Given the description of an element on the screen output the (x, y) to click on. 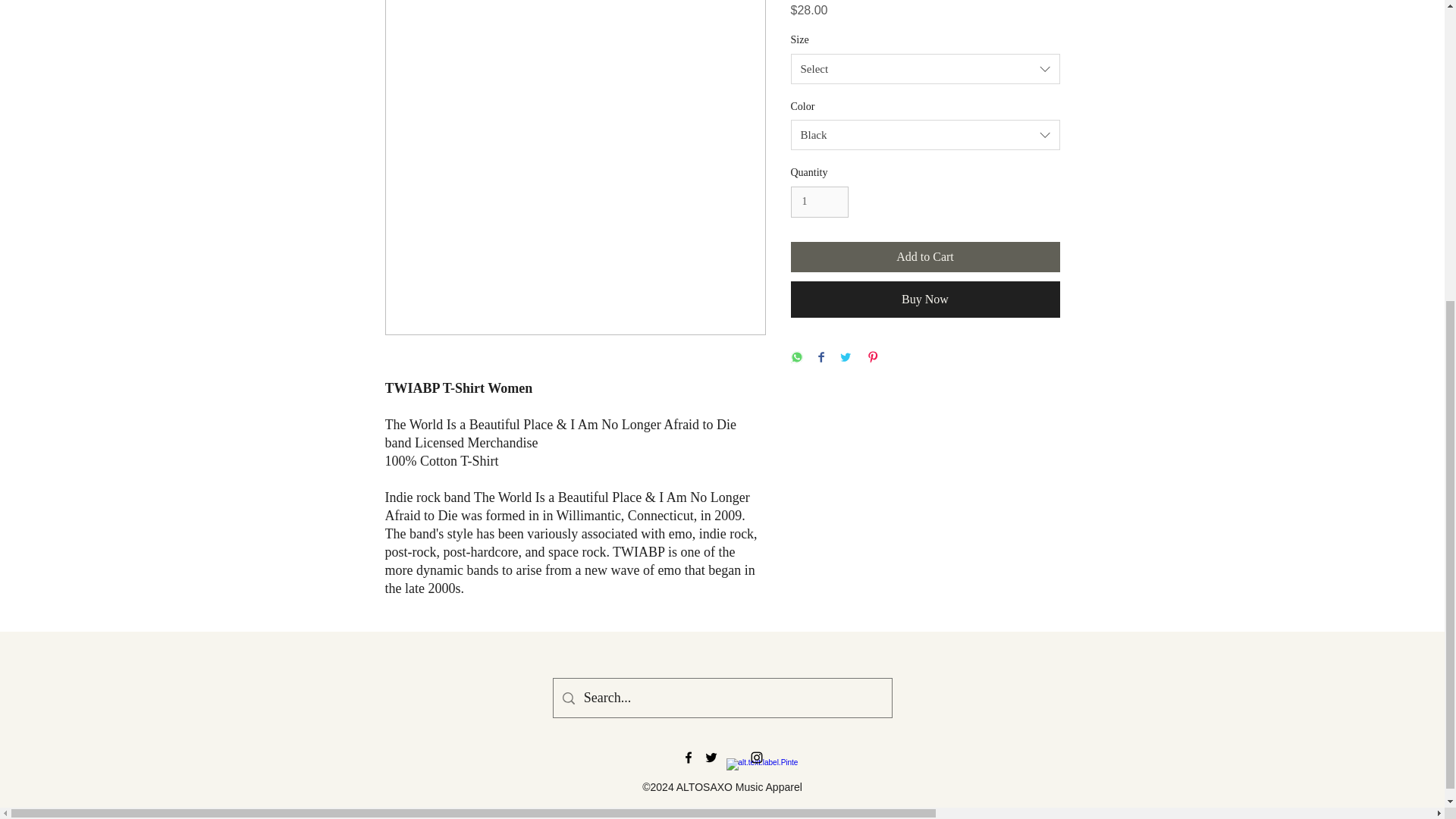
Select (924, 69)
Buy Now (924, 299)
Black (924, 134)
Add to Cart (924, 256)
1 (818, 201)
